Given the description of an element on the screen output the (x, y) to click on. 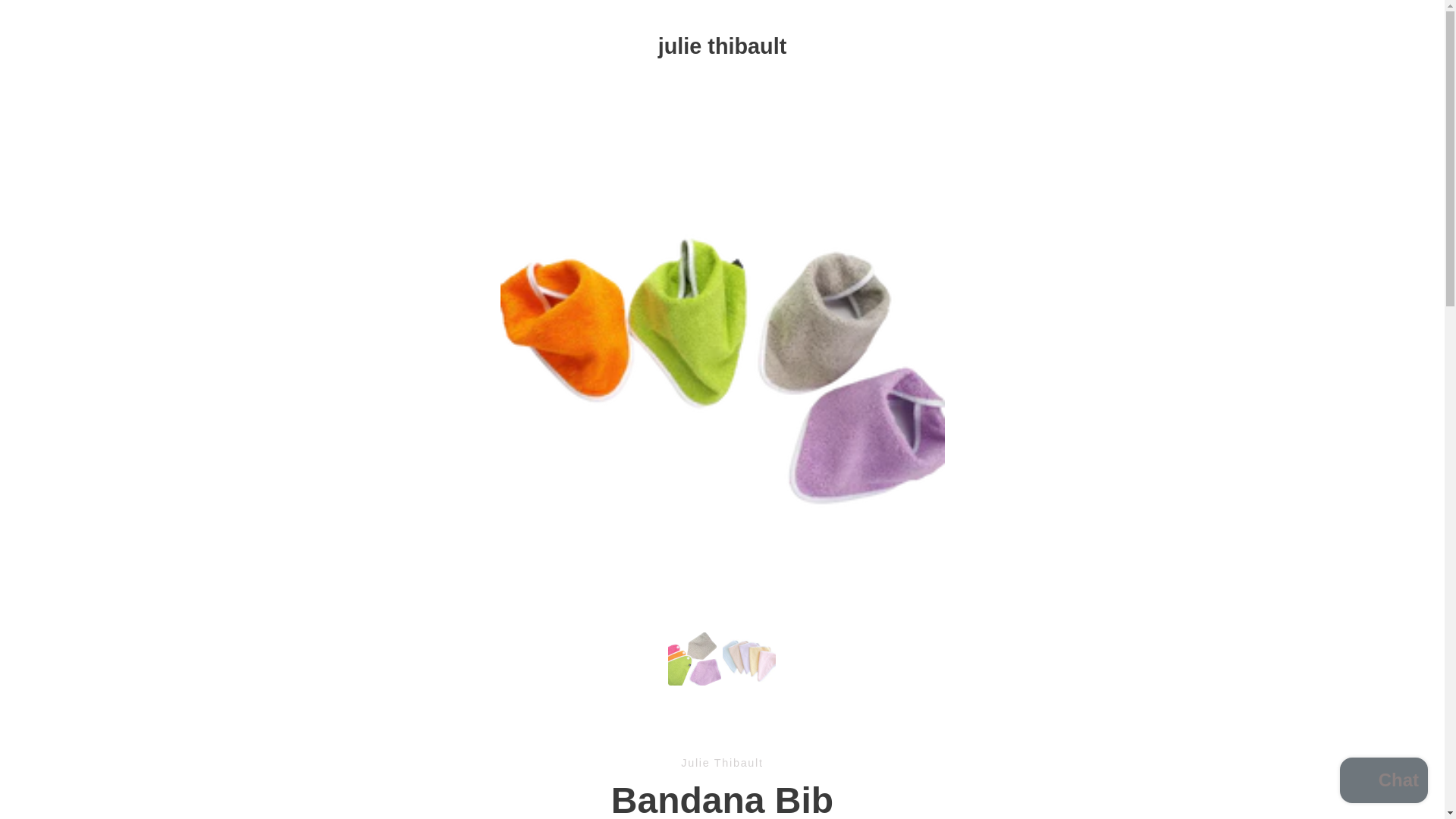
CONTACT US (411, 624)
American Express (883, 754)
julie thibault (735, 753)
Shopify online store chat (1383, 781)
PayPal (1057, 754)
Diners Club (953, 754)
julie thibault on Instagram (400, 764)
Facebook (372, 764)
SEARCH (397, 573)
julie thibault (722, 46)
Discover (988, 754)
Instagram (400, 764)
julie thibault on Facebook (372, 764)
Shop Pay (1022, 778)
MENU (384, 46)
